Given the description of an element on the screen output the (x, y) to click on. 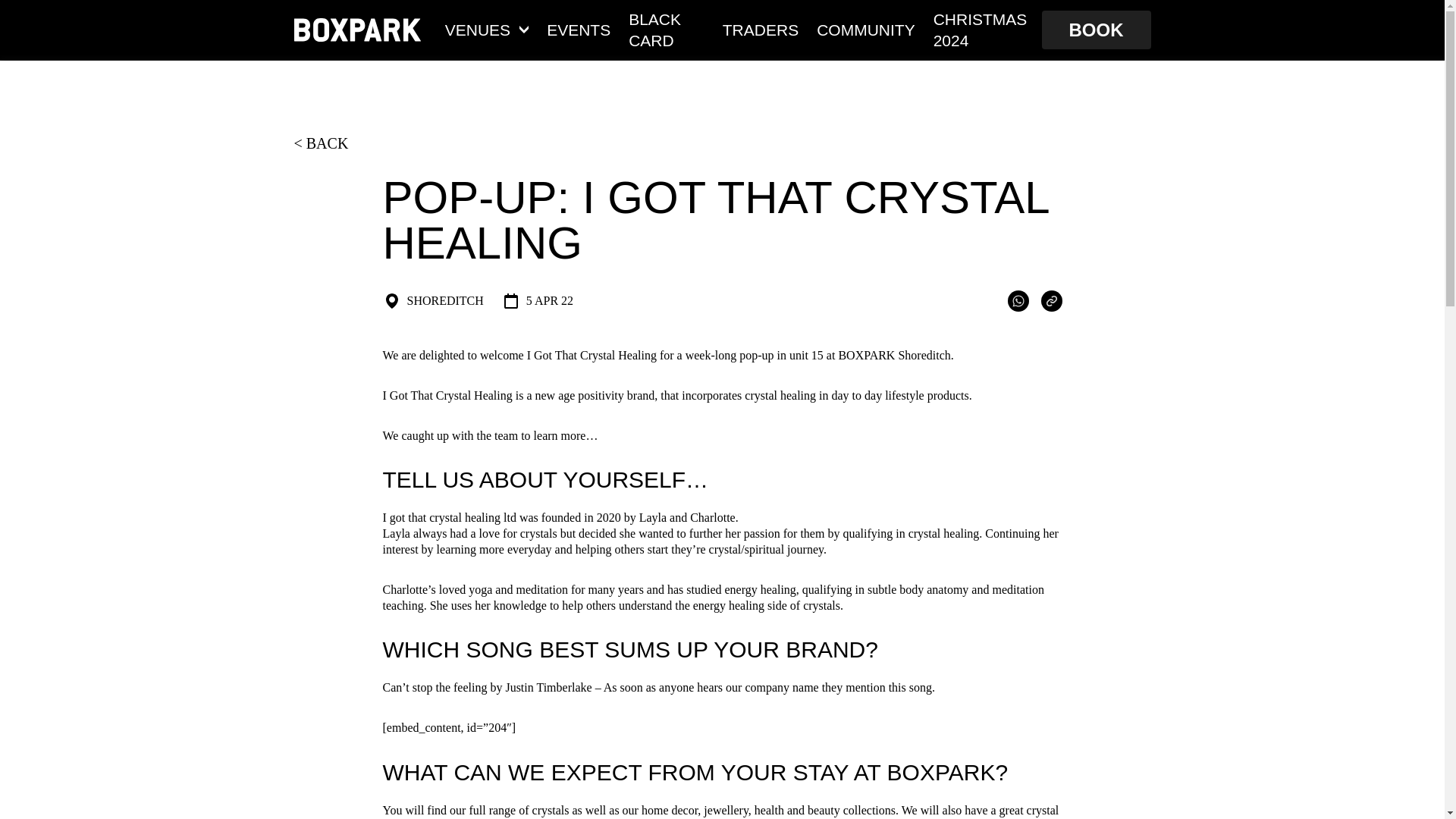
BLACK CARD (666, 29)
EVENTS (578, 29)
COMMUNITY (865, 29)
VENUES (486, 29)
TRADERS (759, 29)
CHRISTMAS 2024 (982, 29)
